Given the description of an element on the screen output the (x, y) to click on. 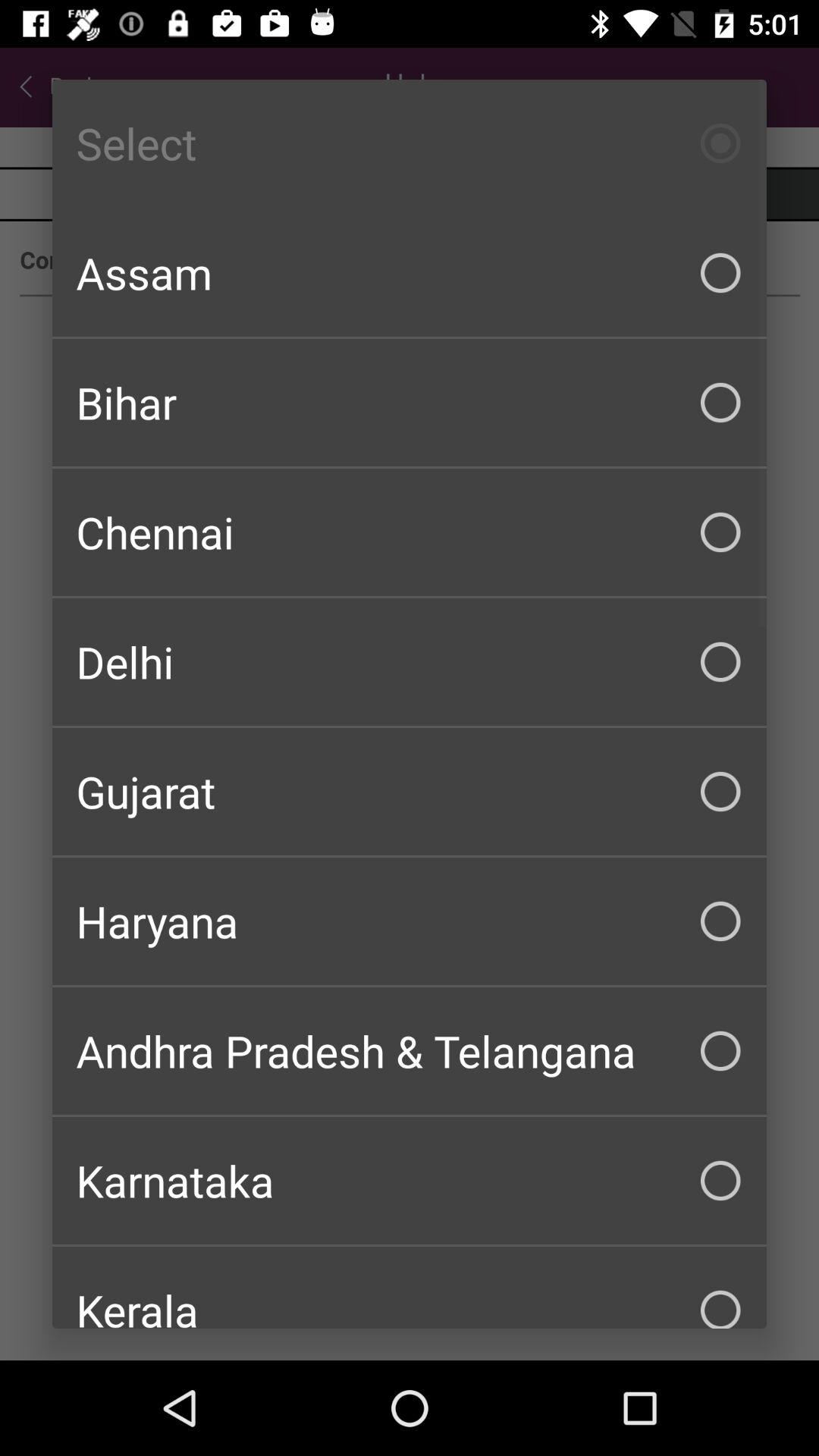
click the checkbox below andhra pradesh & telangana icon (409, 1180)
